Given the description of an element on the screen output the (x, y) to click on. 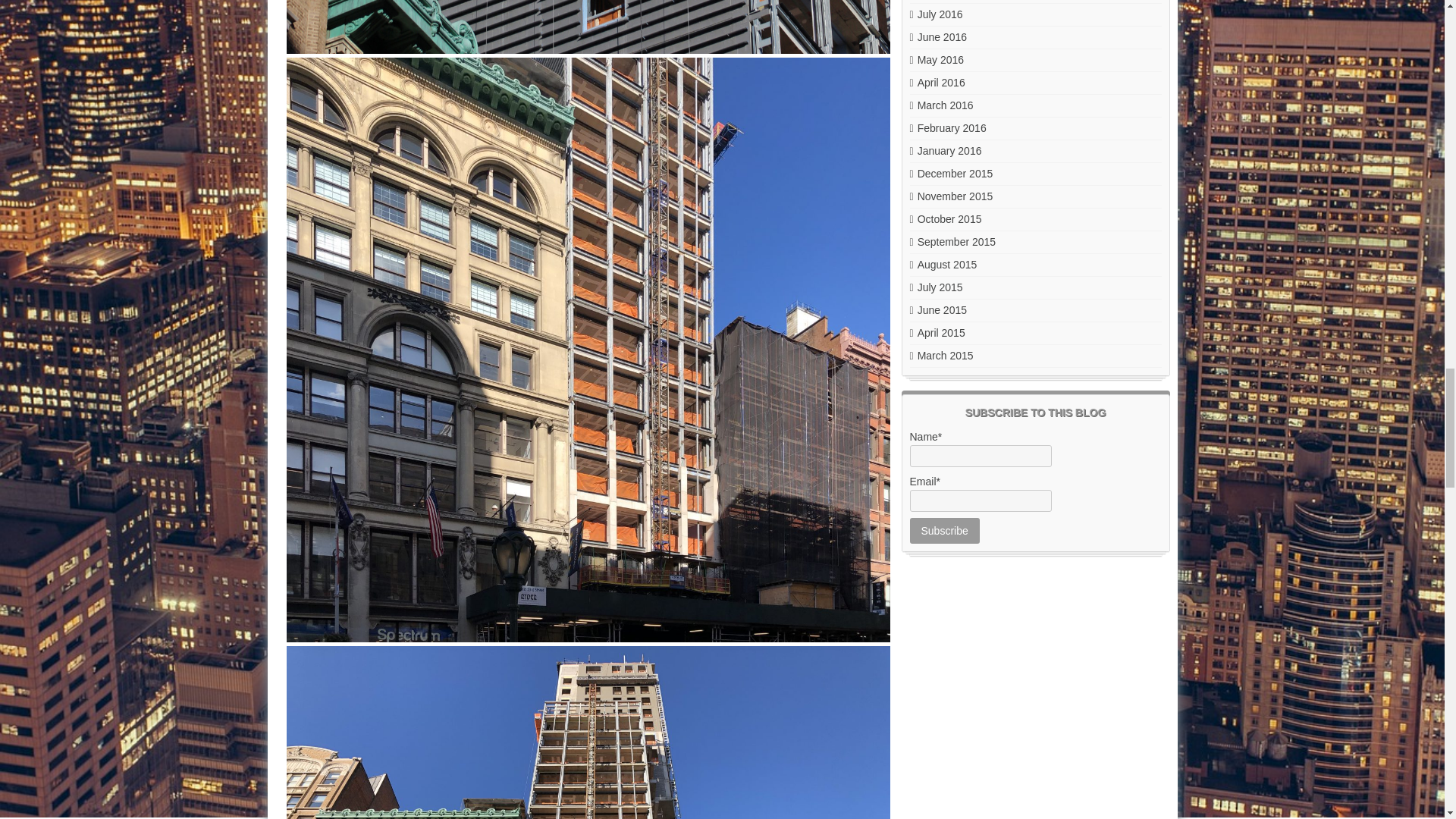
Subscribe (944, 530)
